Given the description of an element on the screen output the (x, y) to click on. 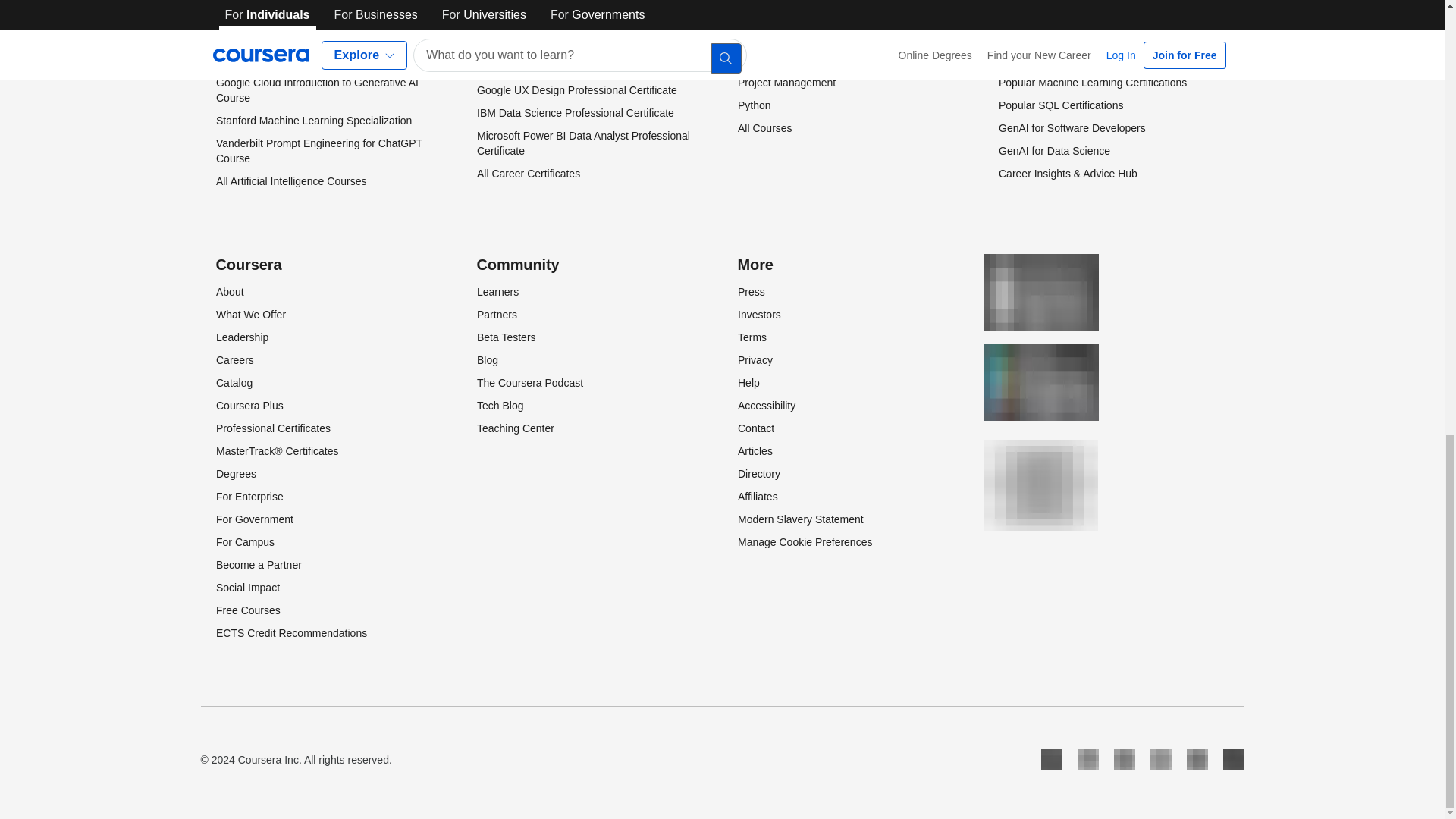
Google UX Design Professional Certificate (576, 90)
All Artificial Intelligence Courses (290, 181)
DLAI GenAI For Everyone Course (295, 14)
Google Digital Marketing Professional Certificate (564, 22)
Google Project Management Professional Certificate (574, 59)
IBM Data Science Professional Certificate (574, 112)
Google AI Essentials (264, 60)
Stanford Machine Learning Specialization (312, 120)
Vanderbilt Prompt Engineering for ChatGPT Course (318, 150)
Google Cloud Introduction to Generative AI Course (316, 90)
